Given the description of an element on the screen output the (x, y) to click on. 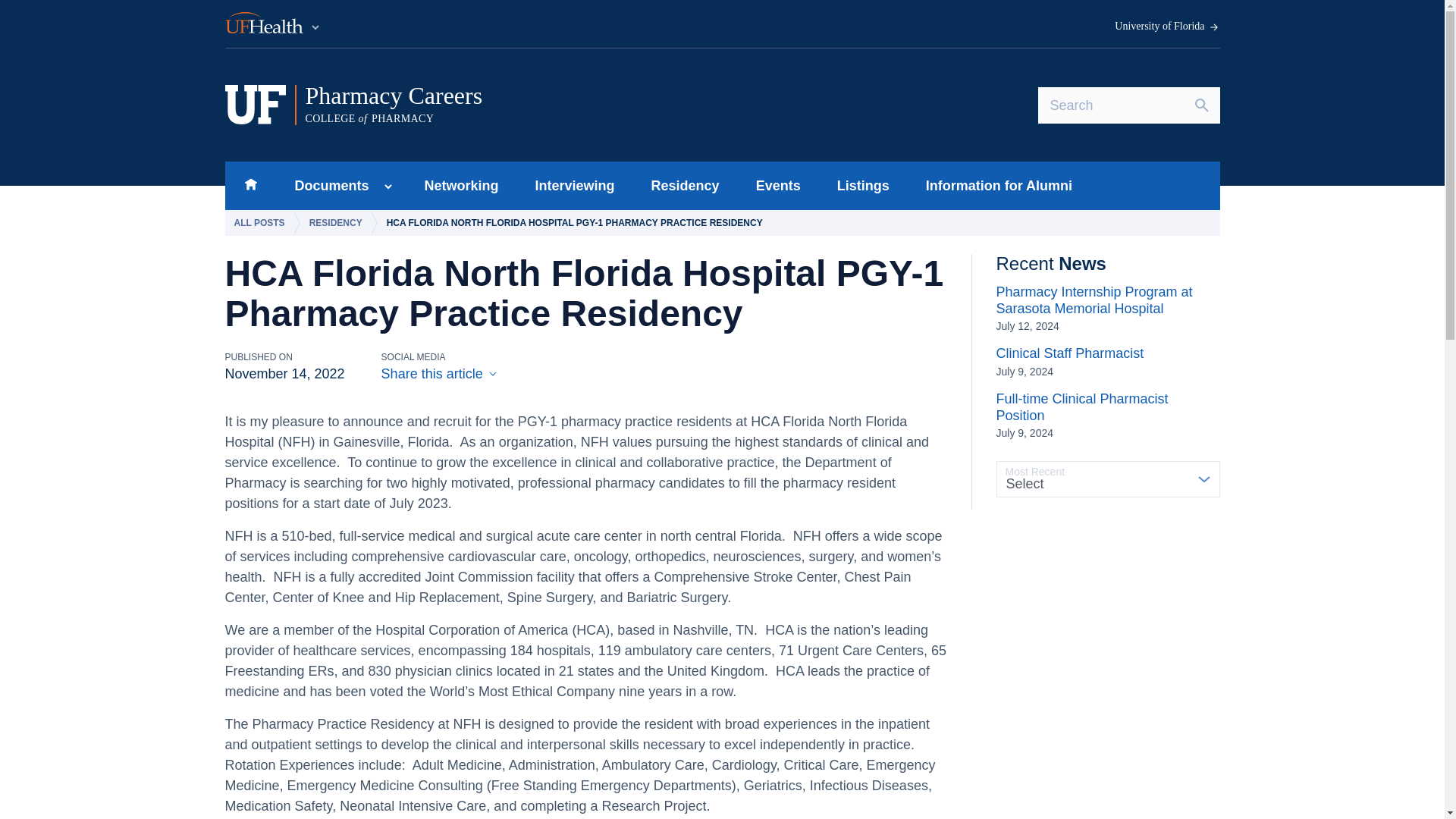
ALL POSTS (261, 222)
Residency (685, 185)
RESIDENCY (1069, 361)
Events (1107, 415)
Share this article (338, 222)
Information for Alumni (778, 185)
